Given the description of an element on the screen output the (x, y) to click on. 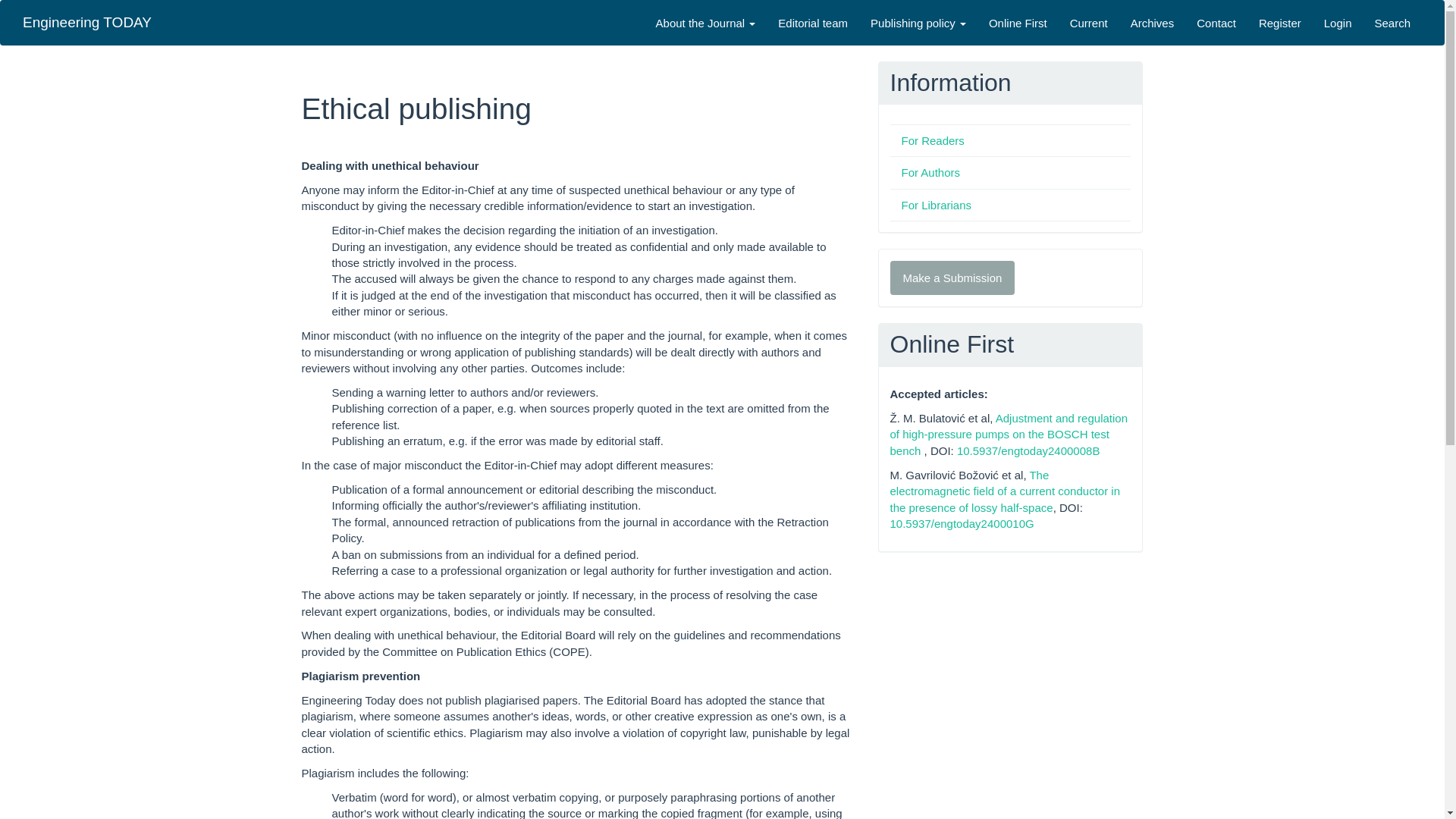
Contact (1216, 22)
About the Journal (706, 22)
Editorial team (813, 22)
Archives (1152, 22)
Online First (1017, 22)
Make a Submission (951, 277)
For Readers (932, 140)
Login (1337, 22)
Engineering TODAY (87, 22)
For Librarians (936, 205)
For Authors (930, 172)
Current (1088, 22)
Publishing policy (917, 22)
